Given the description of an element on the screen output the (x, y) to click on. 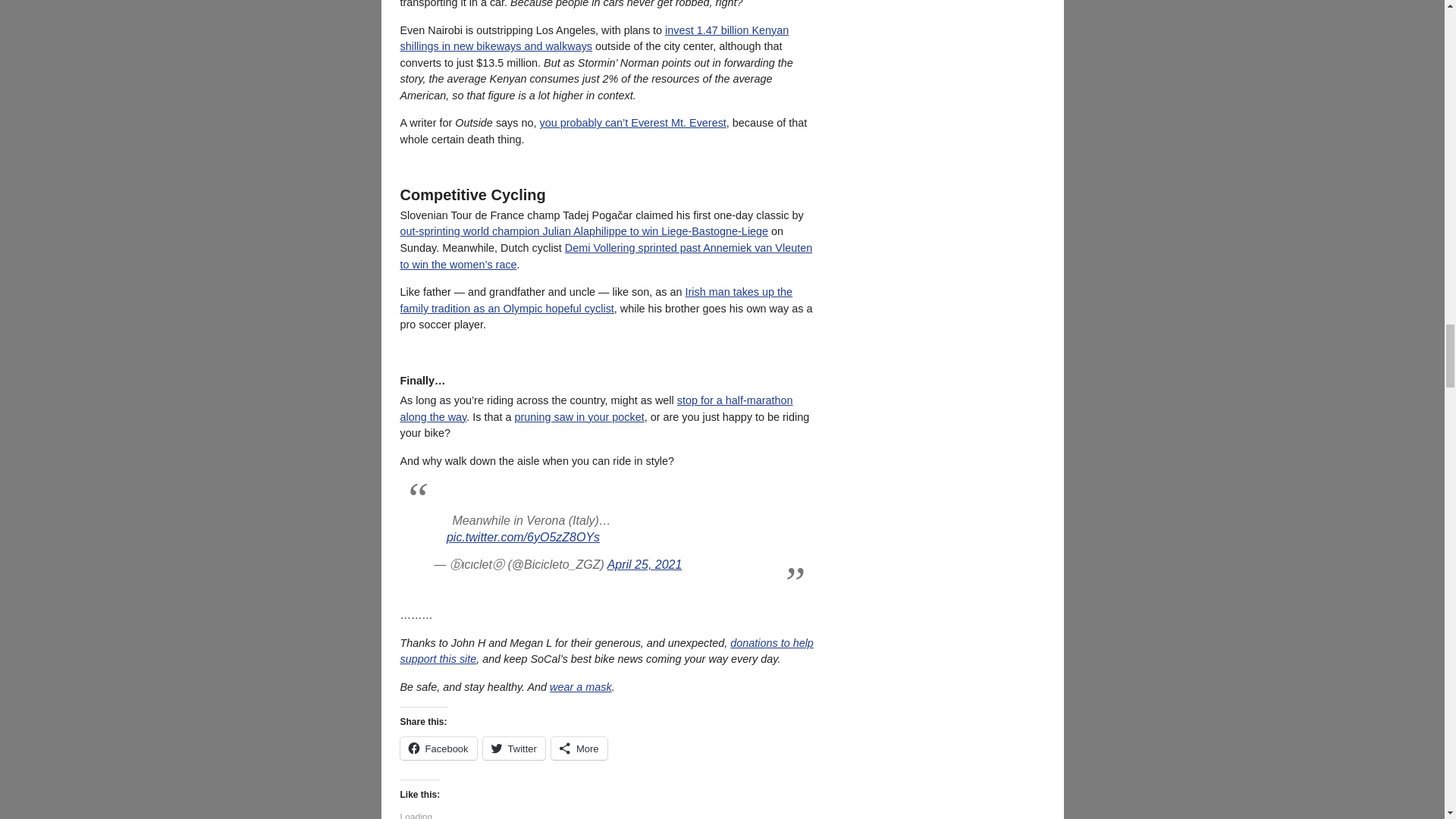
Click to share on Facebook (438, 748)
Click to share on Twitter (513, 748)
